Given the description of an element on the screen output the (x, y) to click on. 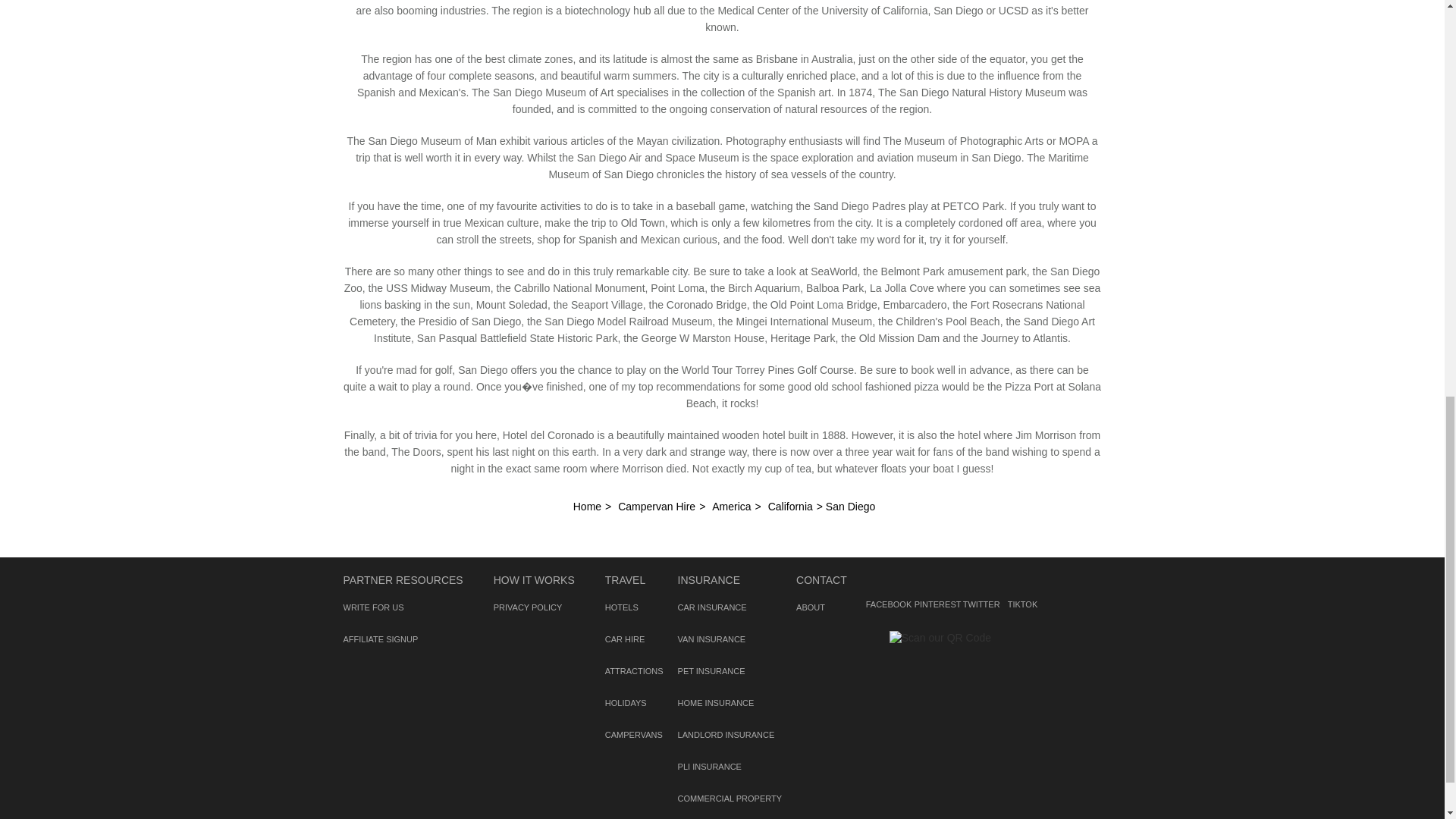
AFFILIATE SIGNUP (379, 638)
Campervan Hire (656, 506)
HOTELS (622, 606)
America (730, 506)
California (790, 506)
CONTACT (821, 580)
TWITTER (976, 584)
FACEBOOK (887, 584)
COMMERCIAL PROPERTY (730, 798)
PLI INSURANCE (709, 766)
